Given the description of an element on the screen output the (x, y) to click on. 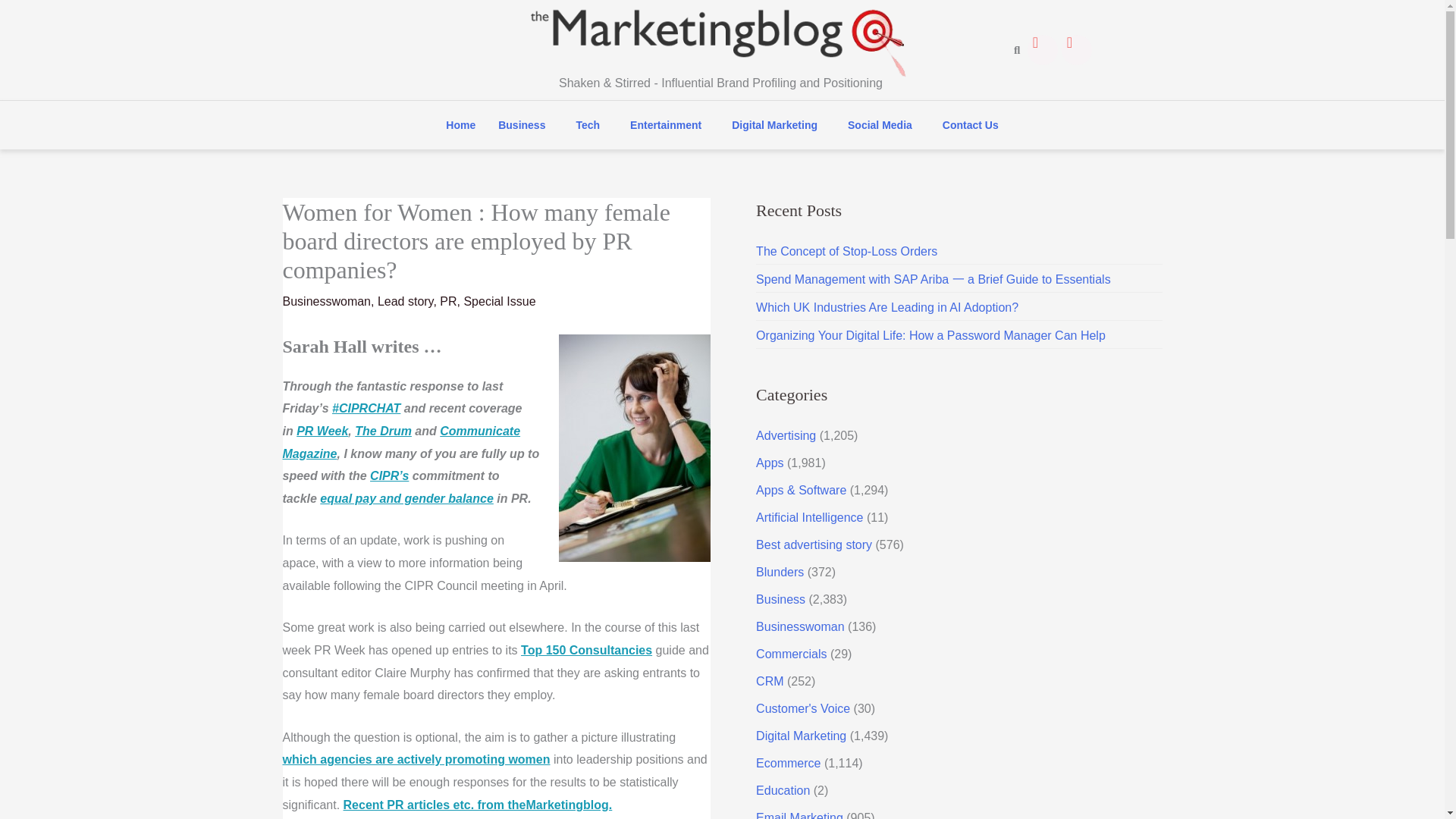
Communicate Magazine (400, 442)
CIPR's (389, 475)
PR Week (322, 431)
Top 150 Consultancies (586, 649)
pr articles (477, 804)
The Drum (383, 431)
women in PR (416, 758)
equal pay and gender balance (406, 498)
